Given the description of an element on the screen output the (x, y) to click on. 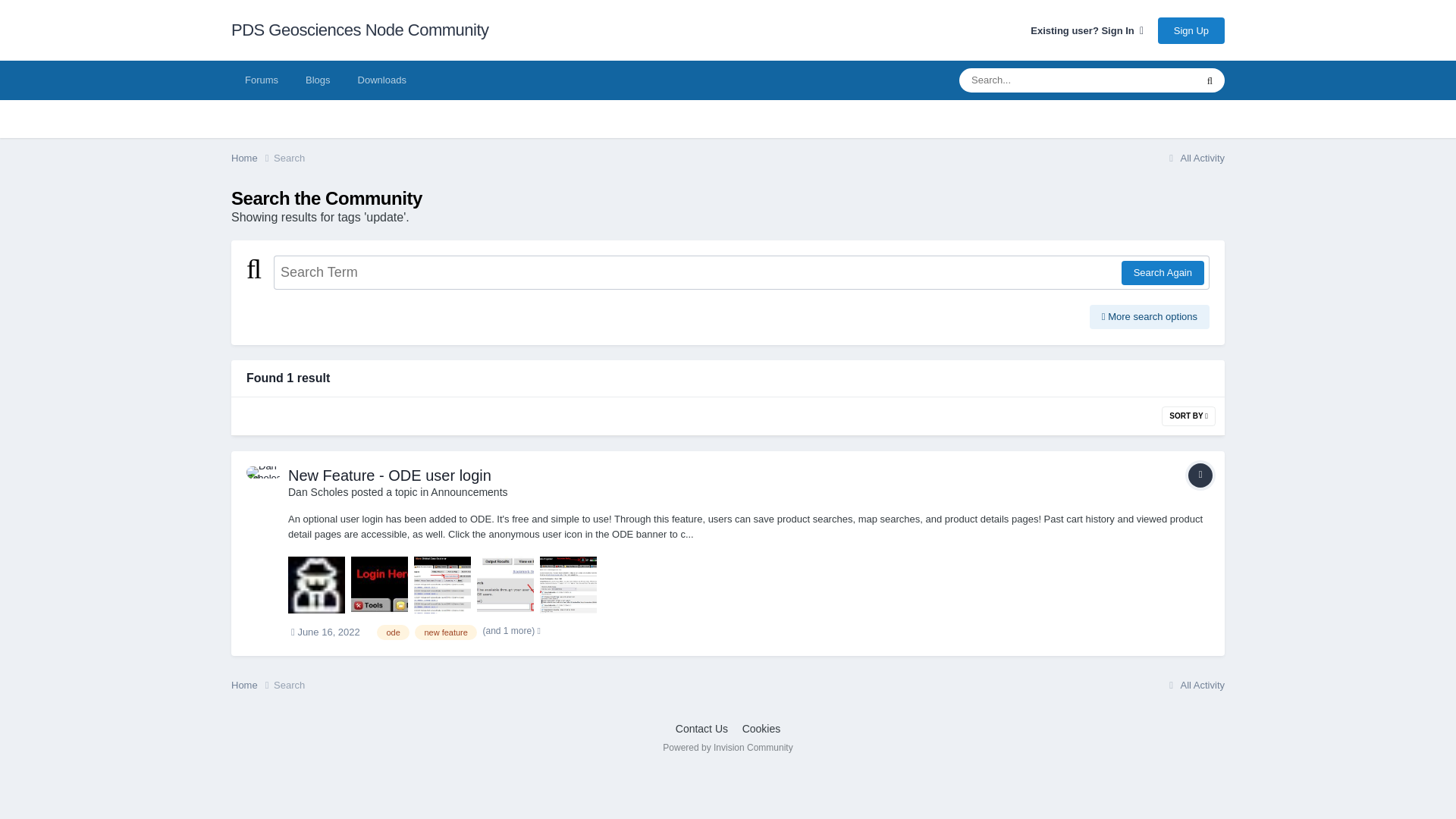
Existing user? Sign In   (1086, 30)
Blogs (317, 79)
Downloads (381, 79)
More search options (1149, 316)
Invision Community (727, 747)
Topic (1200, 475)
Sign Up (1190, 29)
Home (252, 685)
PDS Geosciences Node Community (360, 30)
Search Again (1162, 273)
Home (252, 158)
Forums (261, 79)
Go to Dan Scholes's profile (317, 491)
All Activity (1194, 157)
Home (252, 158)
